Given the description of an element on the screen output the (x, y) to click on. 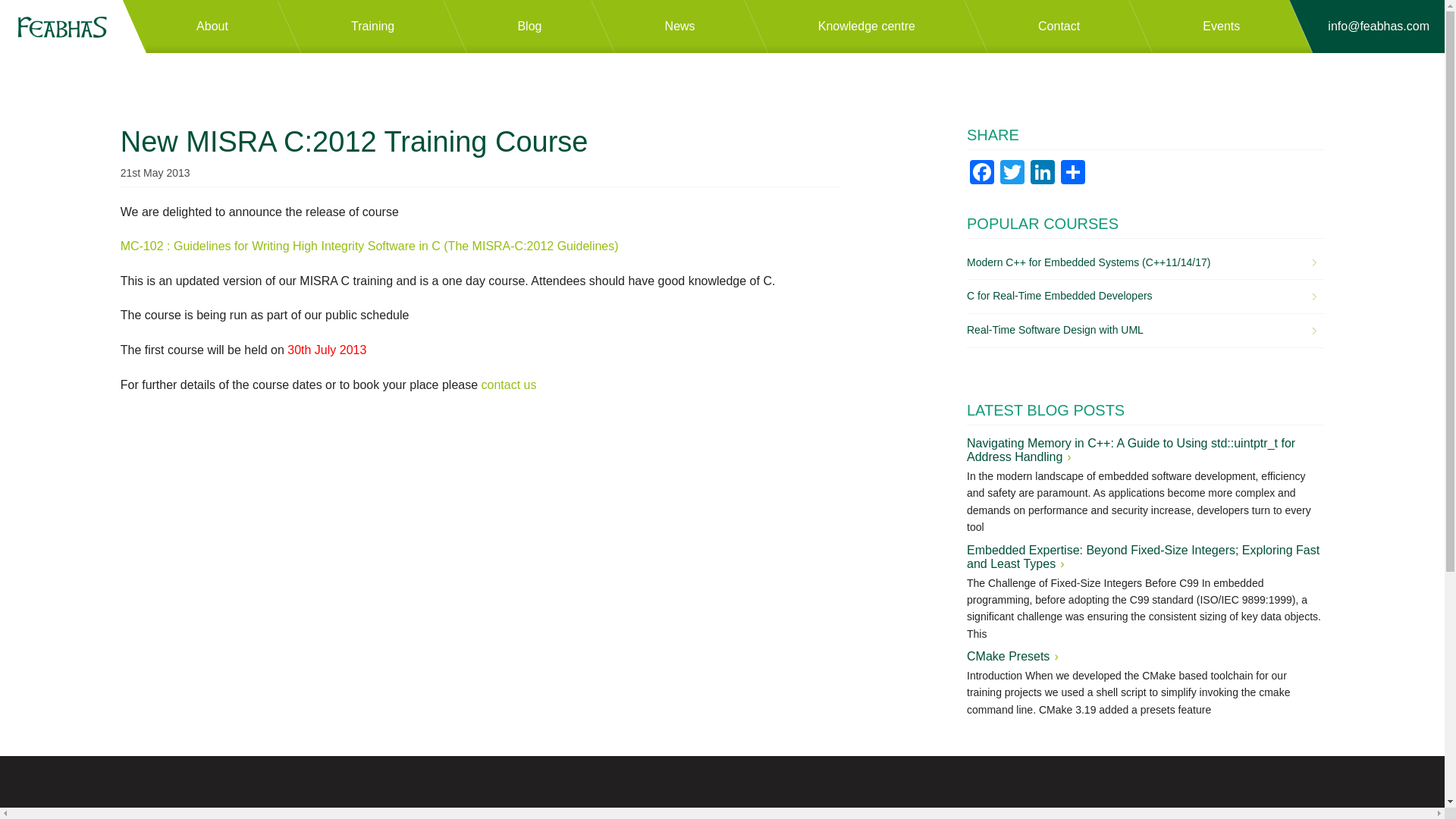
Training (384, 26)
Blog (540, 26)
30th July 2013 (326, 349)
Twitter (1012, 171)
contact us (509, 384)
blog (540, 26)
LinkedIn (1042, 171)
Events (1233, 26)
Real-Time Software Design with UML (1141, 330)
Contact (1070, 26)
Share (1072, 171)
Facebook (981, 171)
Knowledge centre (878, 26)
